Given the description of an element on the screen output the (x, y) to click on. 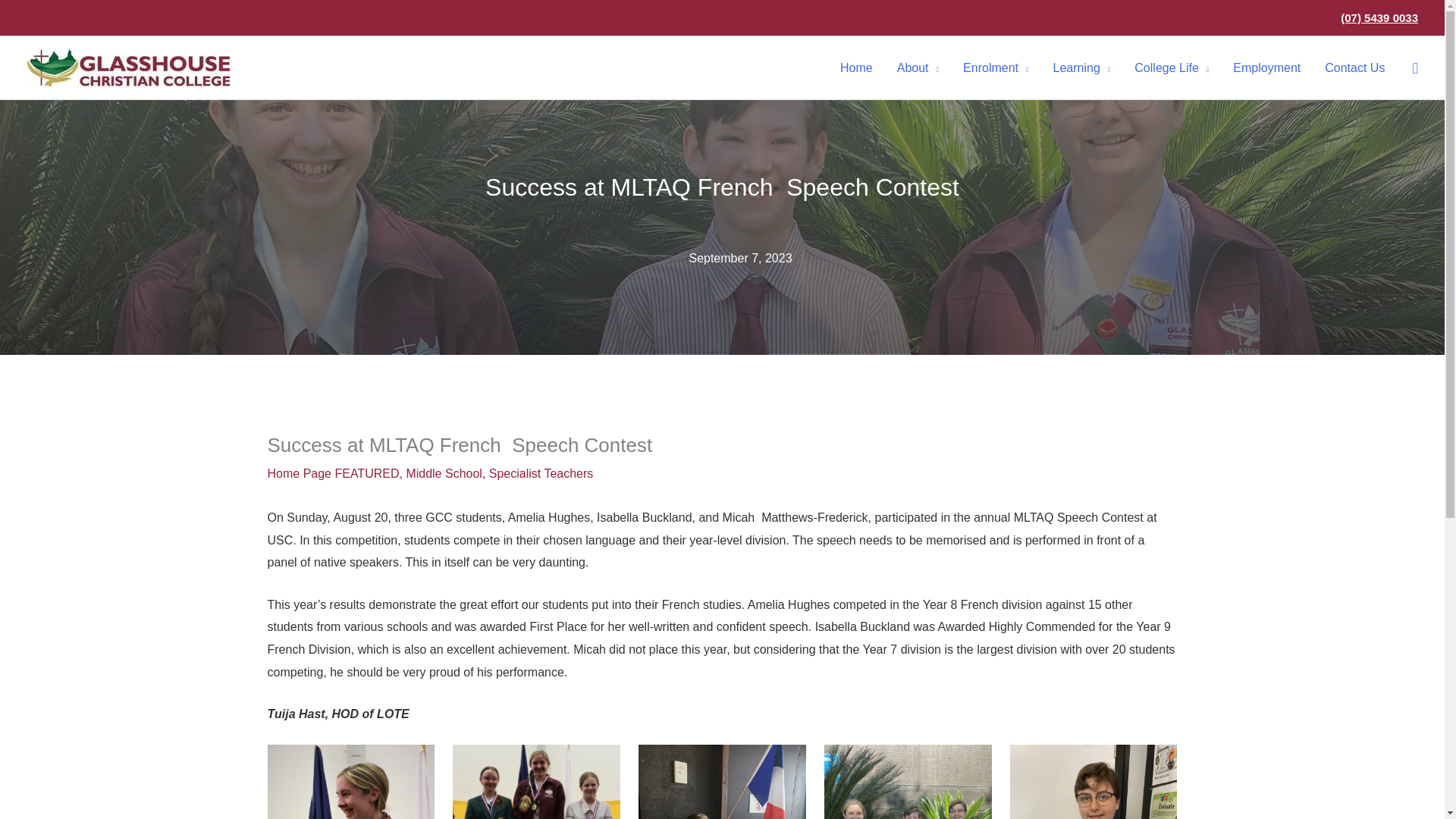
About (917, 67)
College Life (1171, 67)
Home (856, 67)
Enrolment (995, 67)
Learning (1081, 67)
Employment (1267, 67)
